Given the description of an element on the screen output the (x, y) to click on. 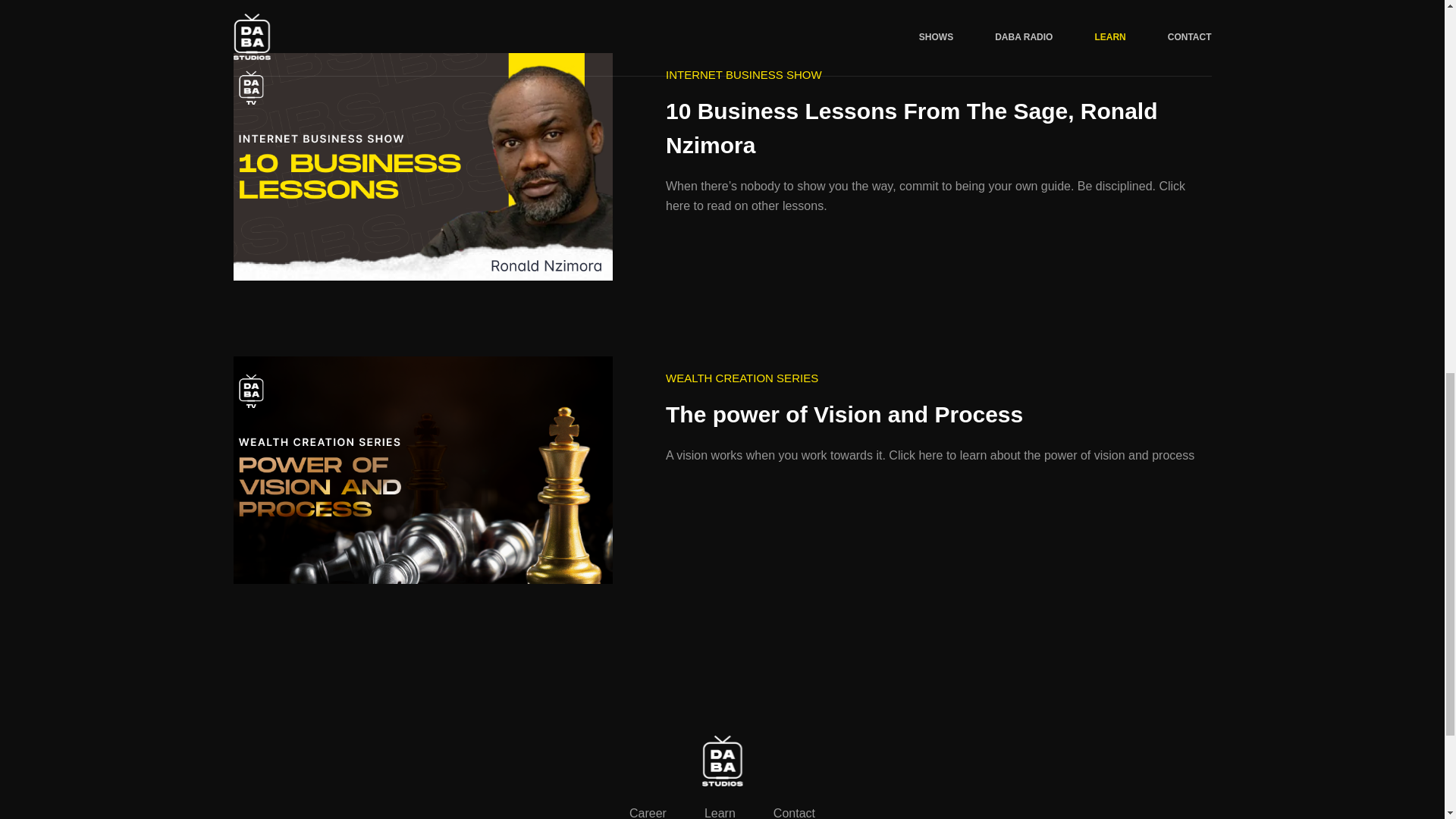
10 Business Lessons From The Sage, Ronald Nzimora (932, 128)
WEALTH CREATION SERIES (741, 378)
The power of Vision and Process (932, 414)
Career (647, 812)
Contact (794, 812)
10 Business Lessons From The Sage, Ronald Nzimora (422, 166)
10 Business Lessons From The Sage, Ronald Nzimora (932, 128)
INTERNET BUSINESS SHOW (743, 75)
The power of Vision and Process (932, 414)
The power of Vision and Process (422, 469)
Learn (719, 812)
